Given the description of an element on the screen output the (x, y) to click on. 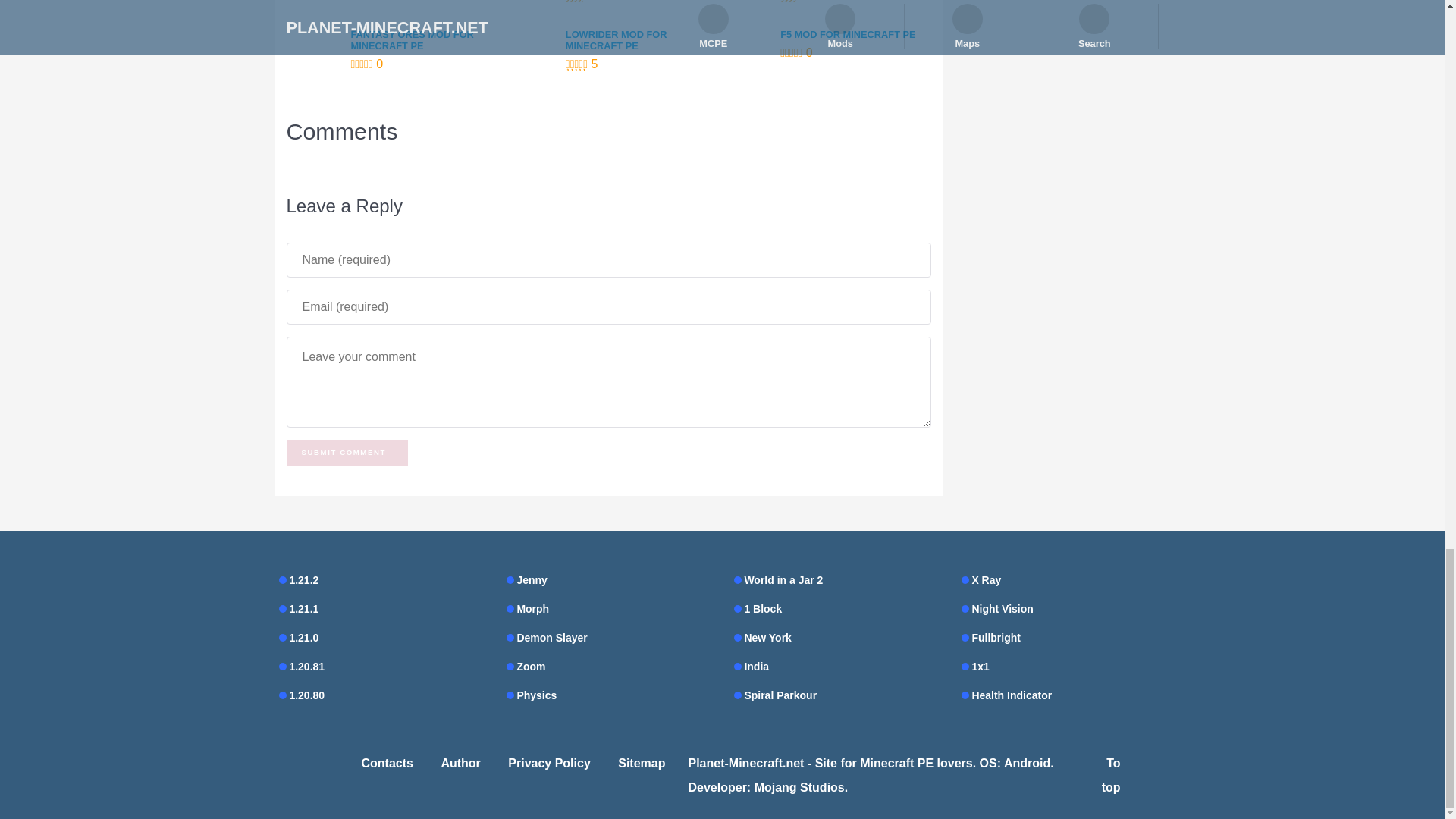
1.20.81 (381, 666)
1.21.2 (381, 579)
Submit Comment (346, 452)
1.21.1 (381, 608)
1.20.80 (381, 694)
Jenny (608, 579)
1.21.0 (381, 637)
